Given the description of an element on the screen output the (x, y) to click on. 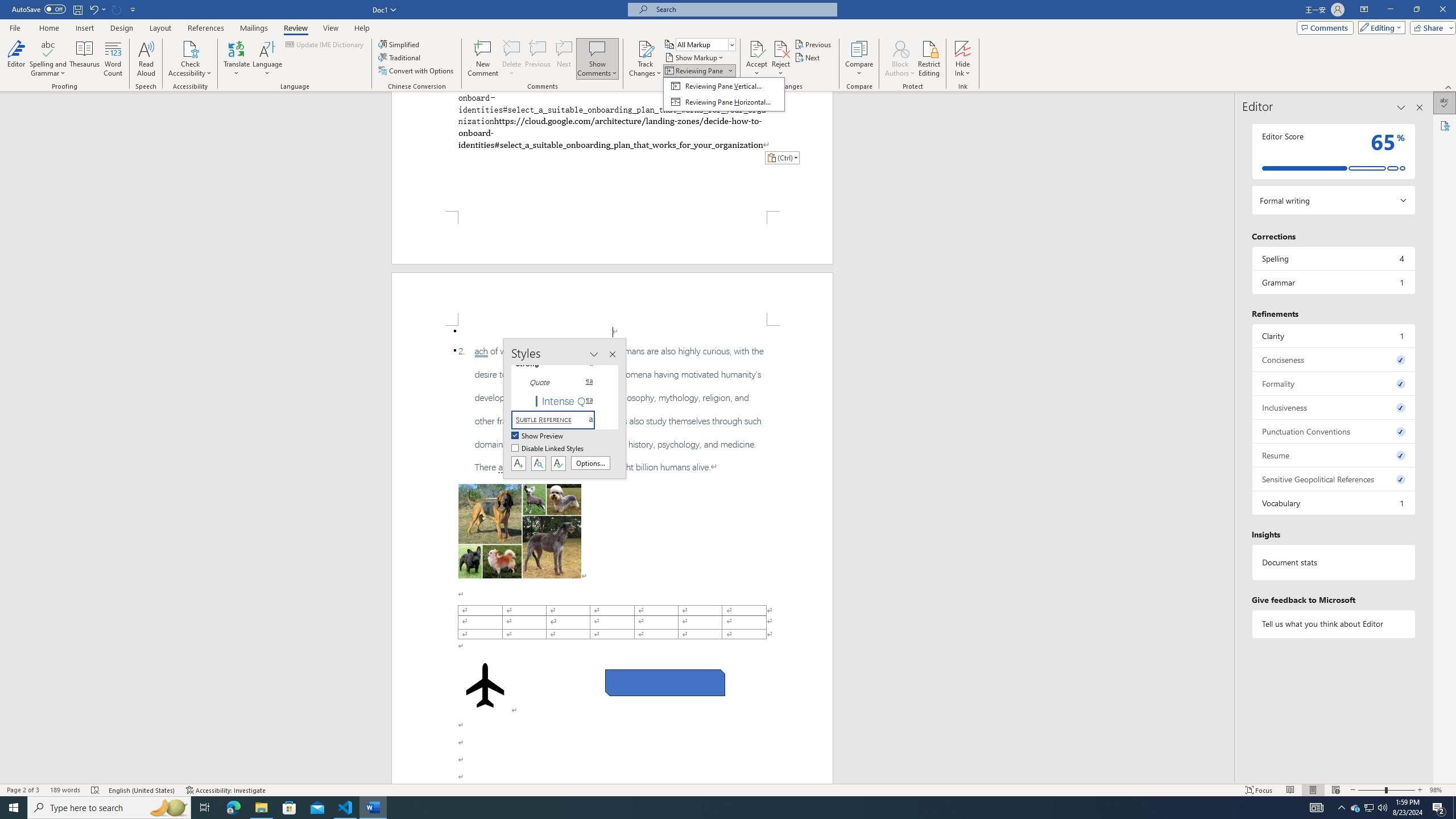
Compare (859, 58)
